Given the description of an element on the screen output the (x, y) to click on. 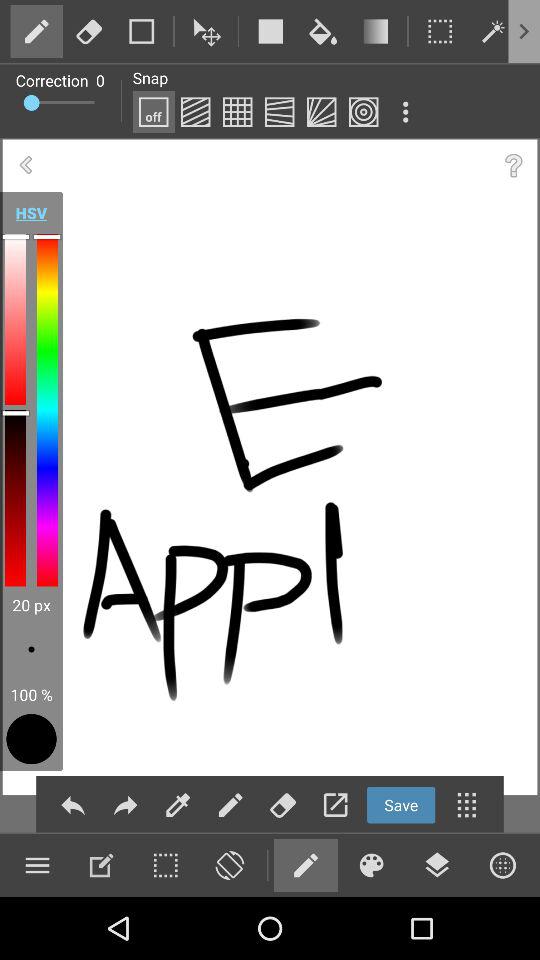
off (153, 112)
